Given the description of an element on the screen output the (x, y) to click on. 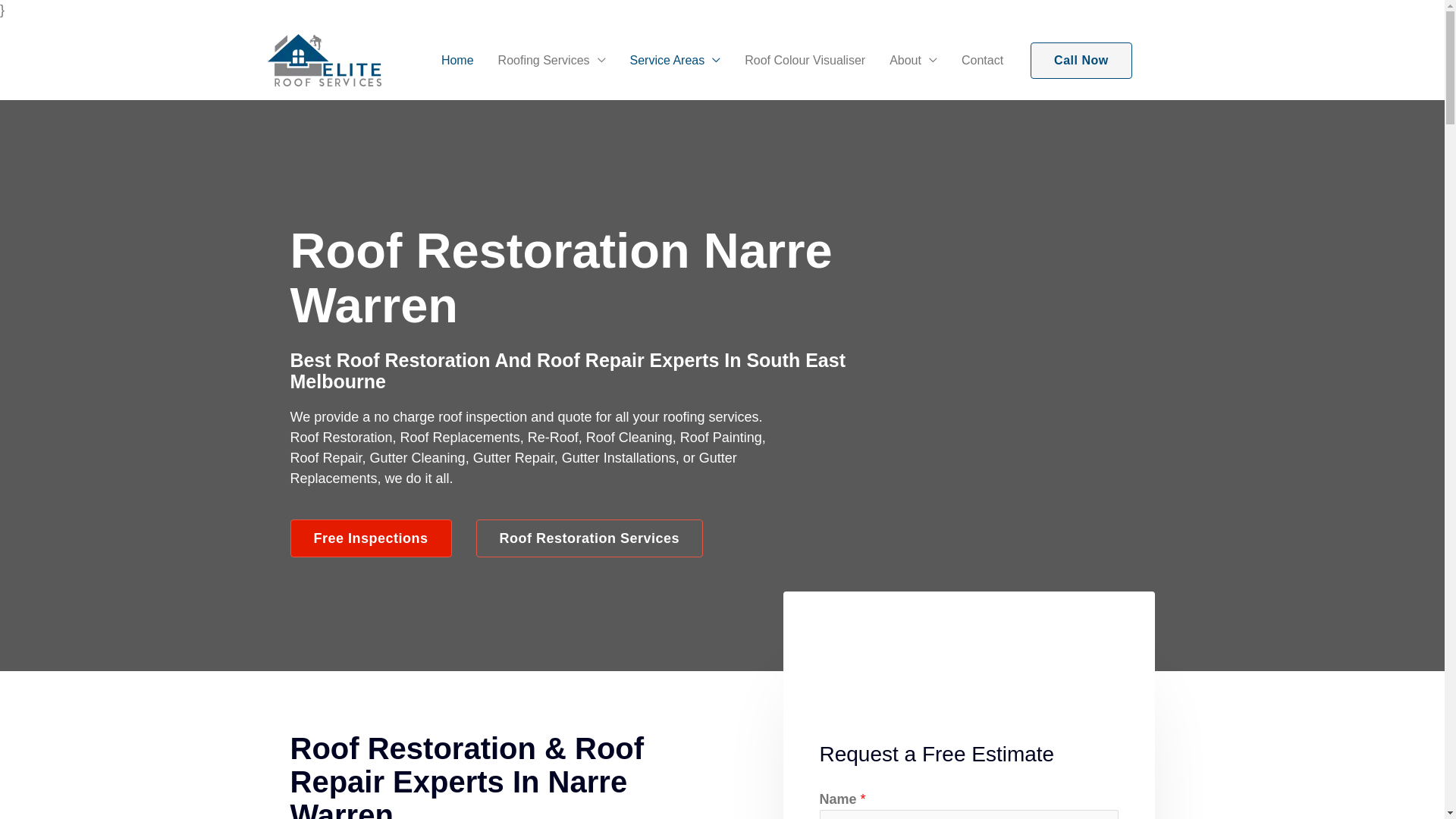
Call Now Element type: text (1081, 60)
Service Areas Element type: text (675, 59)
Home Element type: text (457, 59)
Roof Colour Visualiser Element type: text (804, 59)
Roof Restoration Services Element type: text (589, 538)
About Element type: text (913, 59)
Free Inspections Element type: text (370, 538)
Contact Element type: text (982, 59)
Roofing Services Element type: text (552, 59)
